Given the description of an element on the screen output the (x, y) to click on. 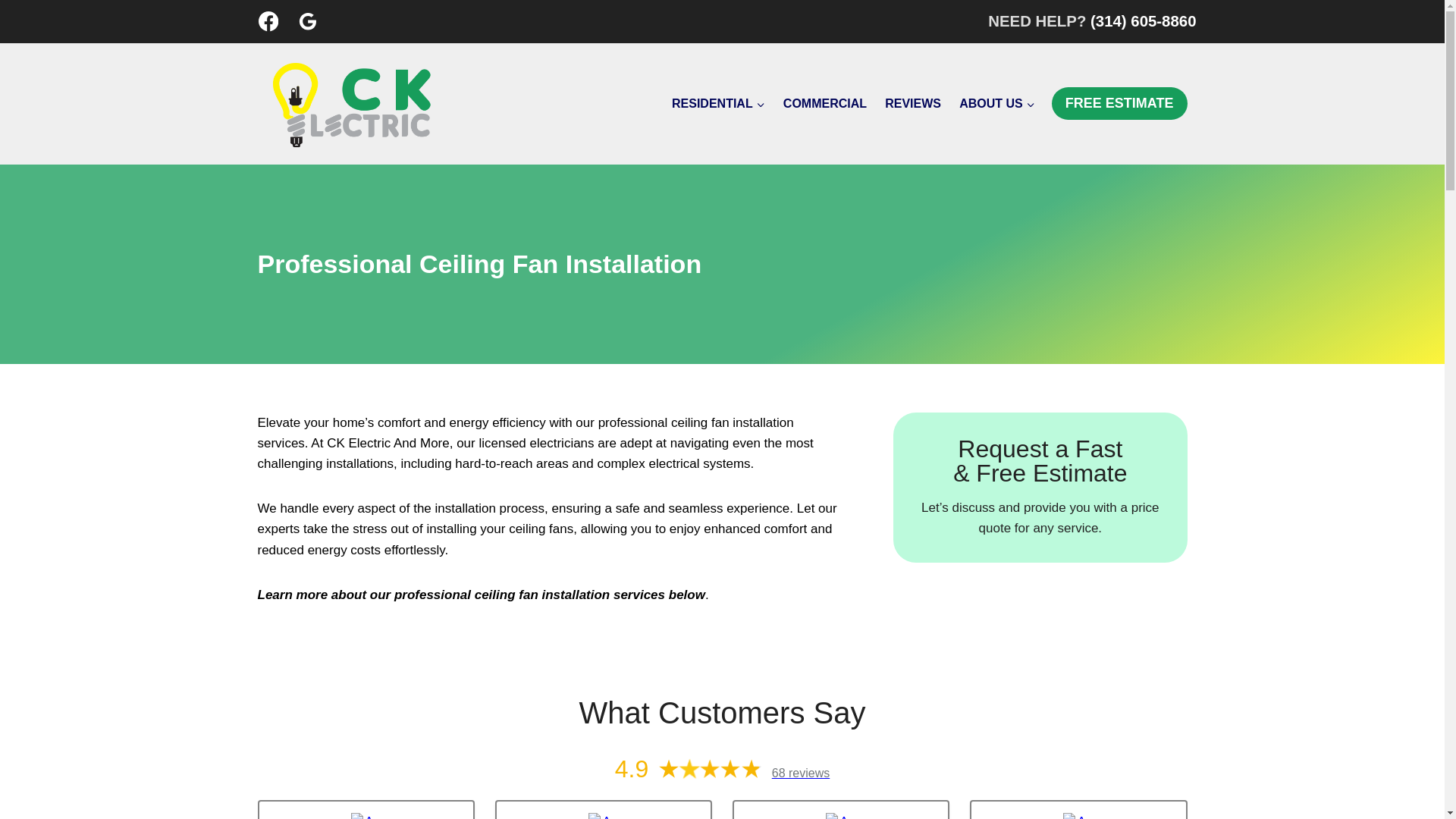
68 reviews (800, 772)
FREE ESTIMATE (1119, 102)
COMMERCIAL (825, 103)
RESIDENTIAL (718, 103)
ABOUT US (996, 103)
REVIEWS (913, 103)
